Given the description of an element on the screen output the (x, y) to click on. 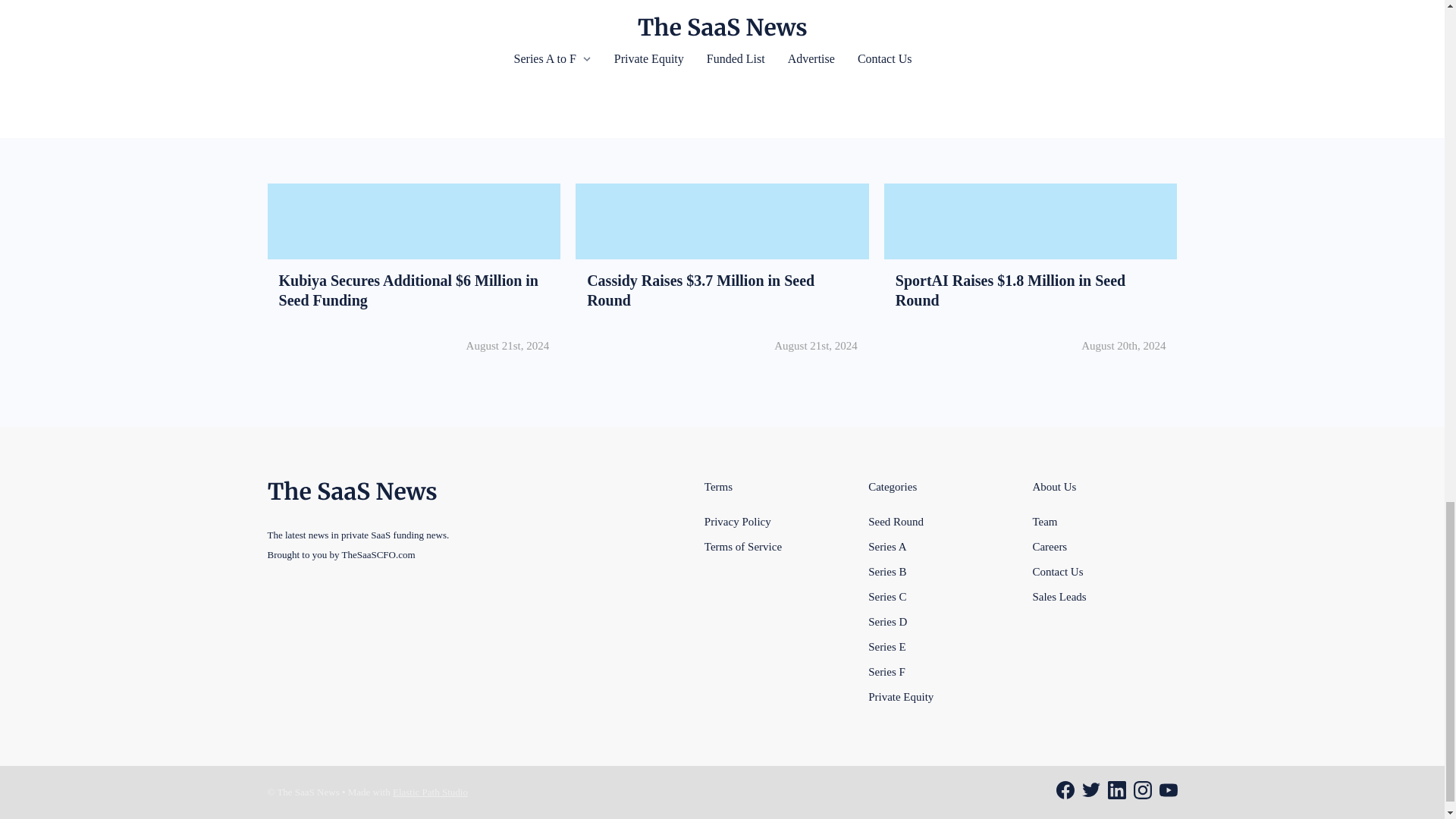
Terms of Service (742, 546)
Team (1044, 521)
Series F (886, 671)
Series E (886, 646)
Series B (886, 571)
Series C (886, 596)
Series D (887, 621)
Contact Us (1057, 571)
Series A (886, 546)
Private Equity (900, 696)
